Given the description of an element on the screen output the (x, y) to click on. 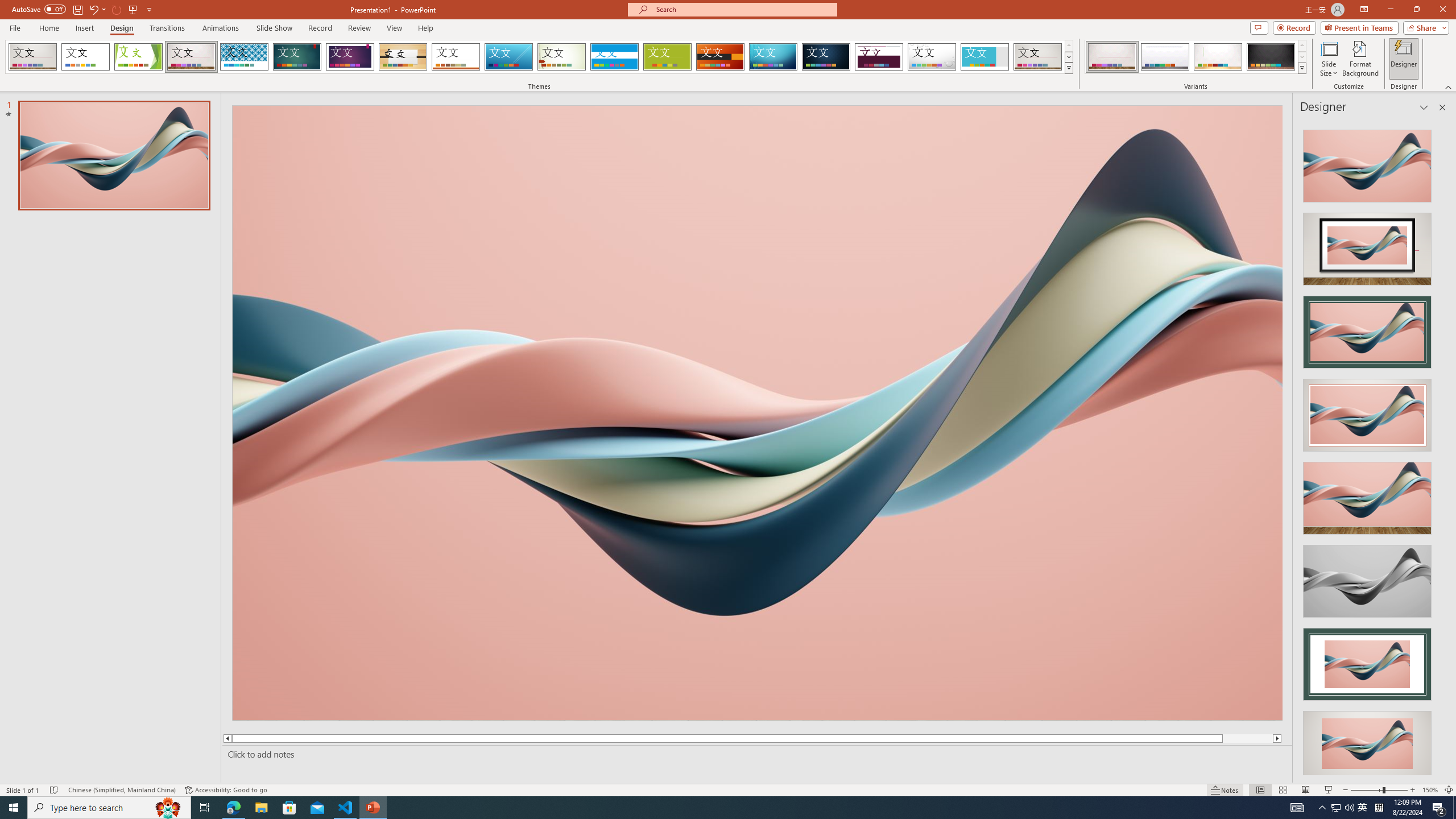
AutomationID: ThemeVariantsGallery (1195, 56)
